Given the description of an element on the screen output the (x, y) to click on. 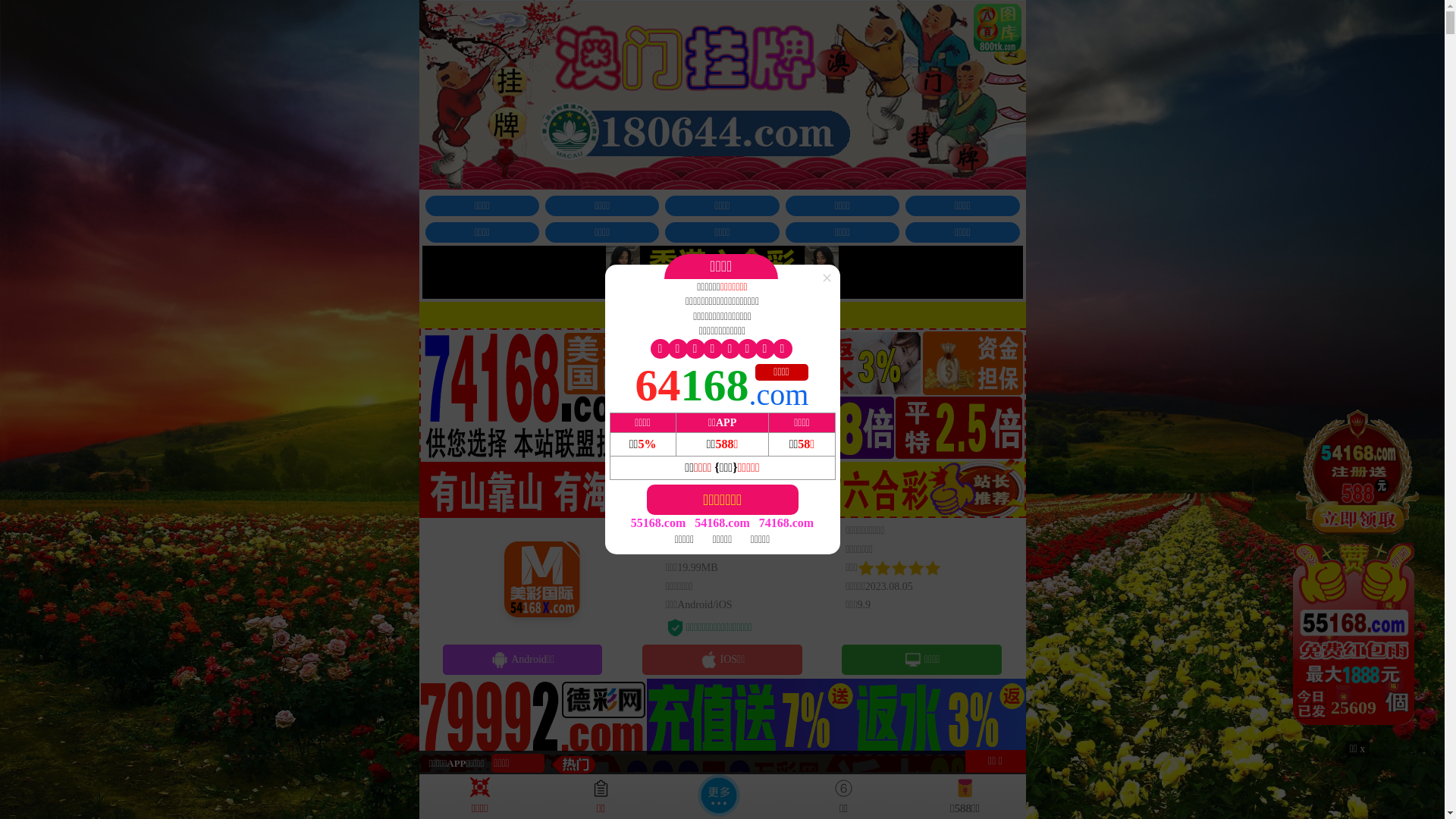
24929 Element type: text (1356, 572)
